Given the description of an element on the screen output the (x, y) to click on. 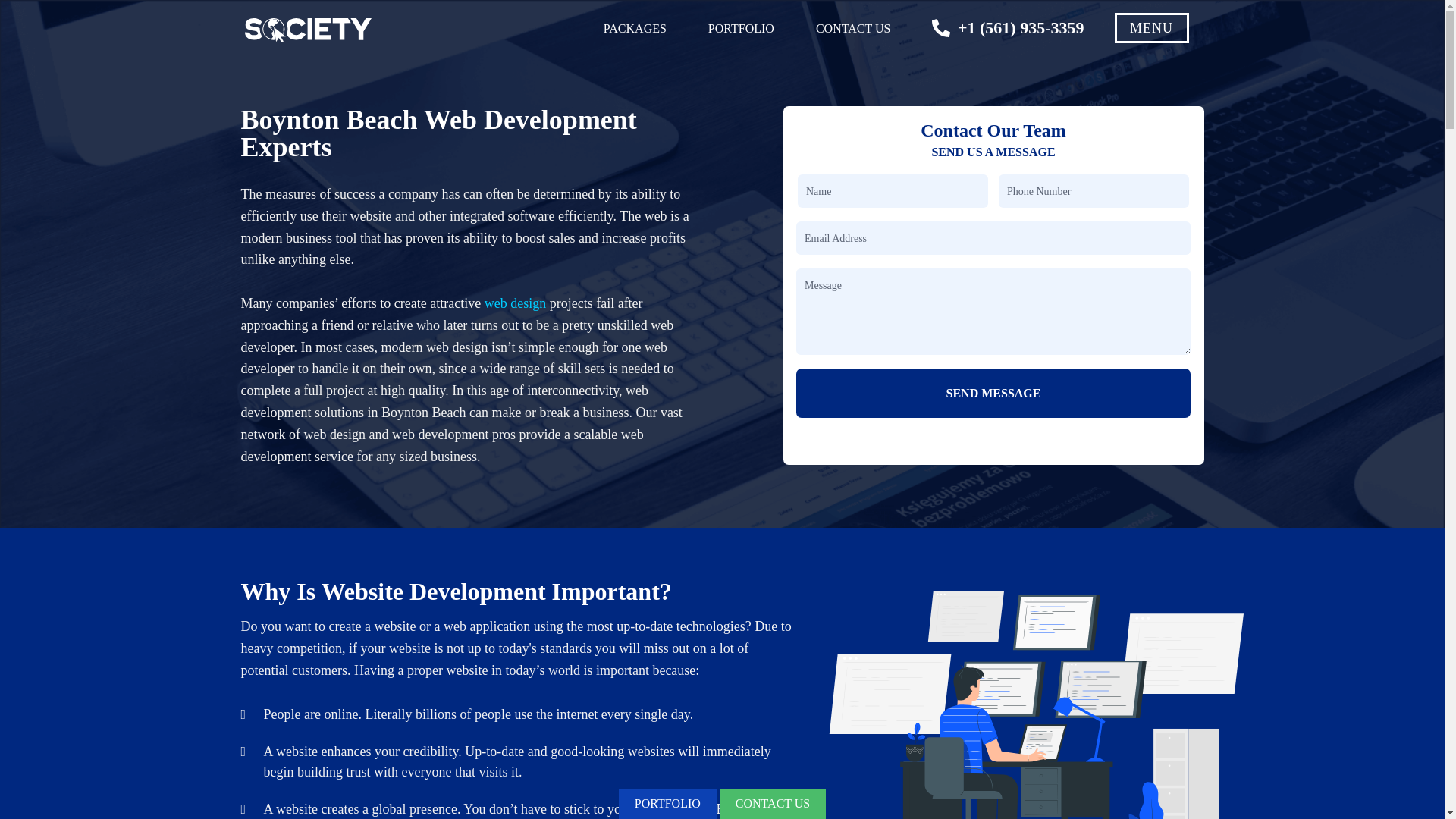
Send Message (993, 393)
Send Message (993, 393)
PACKAGES (635, 28)
web design (515, 303)
MENU (1152, 28)
CONTACT US (852, 28)
PORTFOLIO (740, 28)
